Given the description of an element on the screen output the (x, y) to click on. 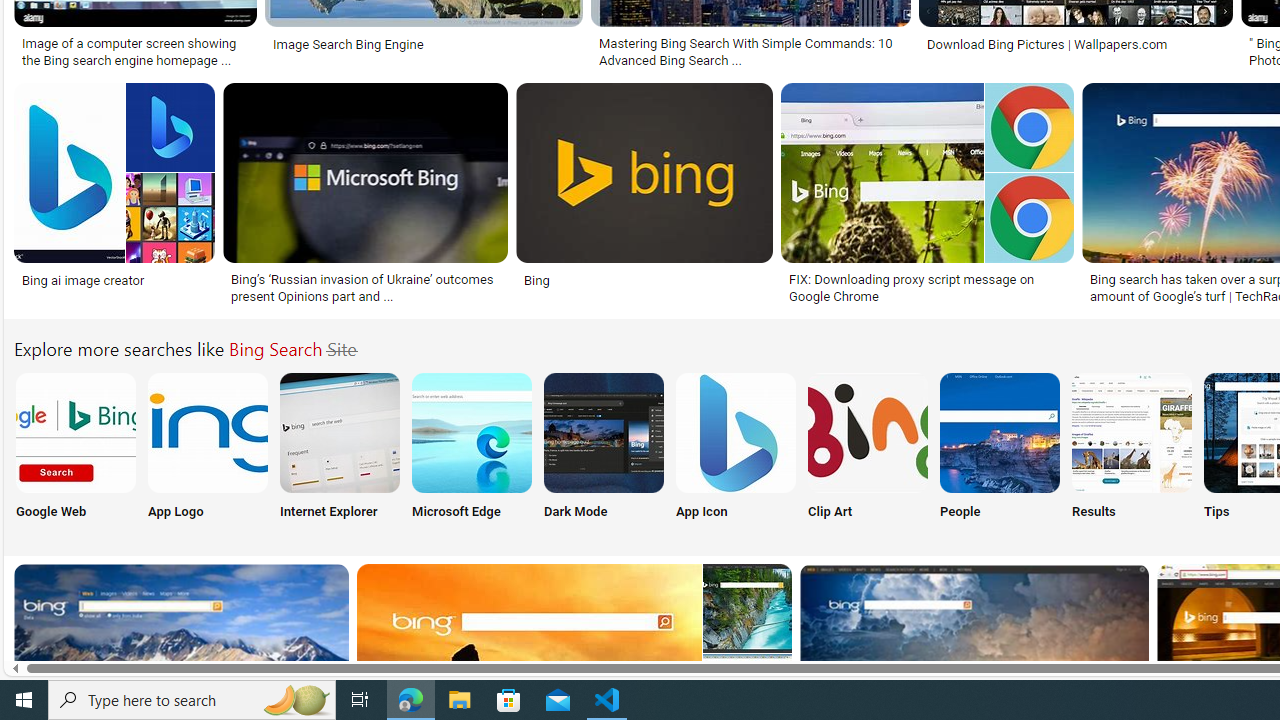
BingSave (647, 196)
Clip Art (867, 450)
Bing ai image creator (82, 279)
Bing Search App Icon (735, 432)
